Given the description of an element on the screen output the (x, y) to click on. 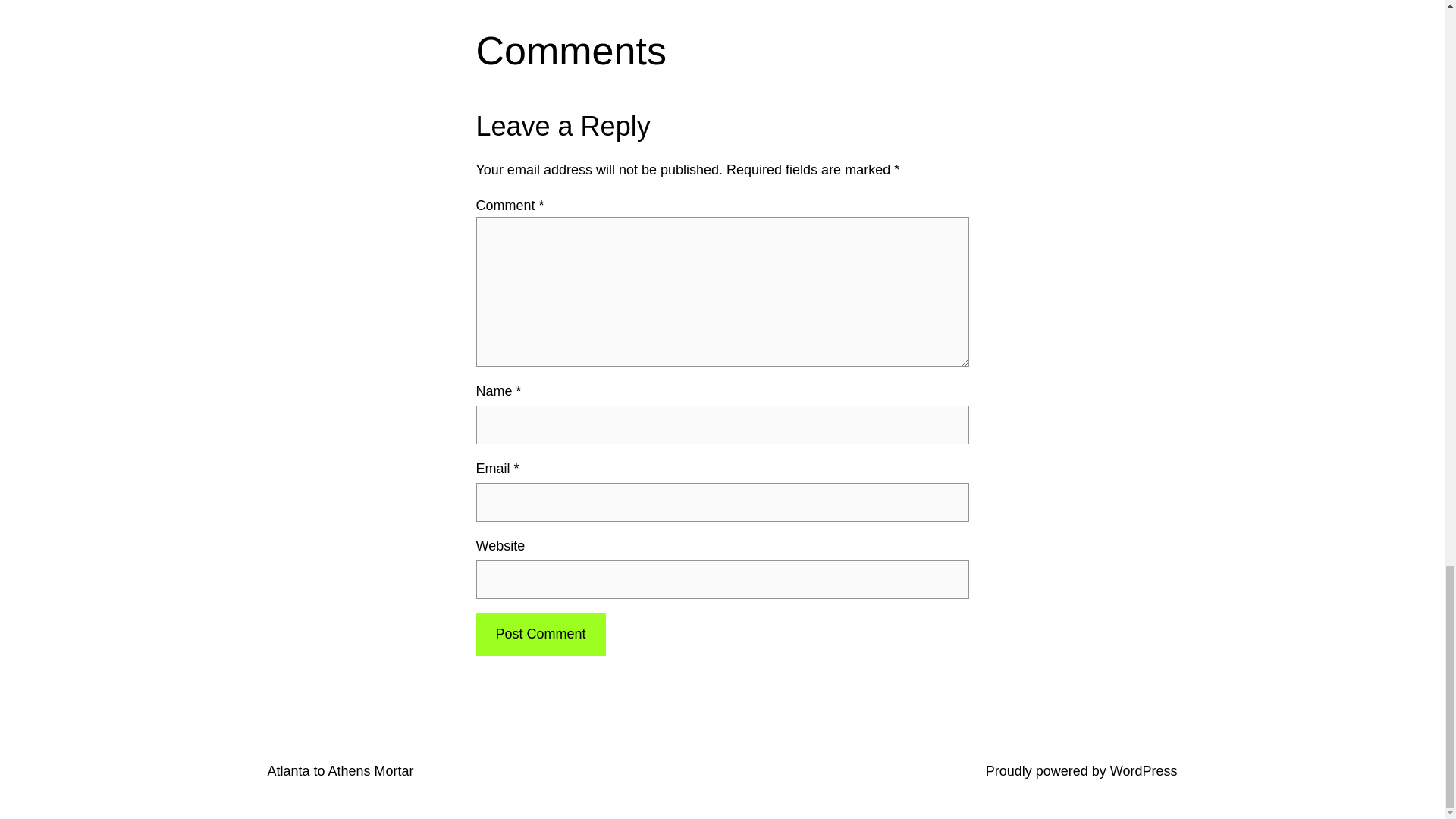
Post Comment (540, 634)
Atlanta to Athens Mortar (339, 770)
Post Comment (540, 634)
WordPress (1143, 770)
